Given the description of an element on the screen output the (x, y) to click on. 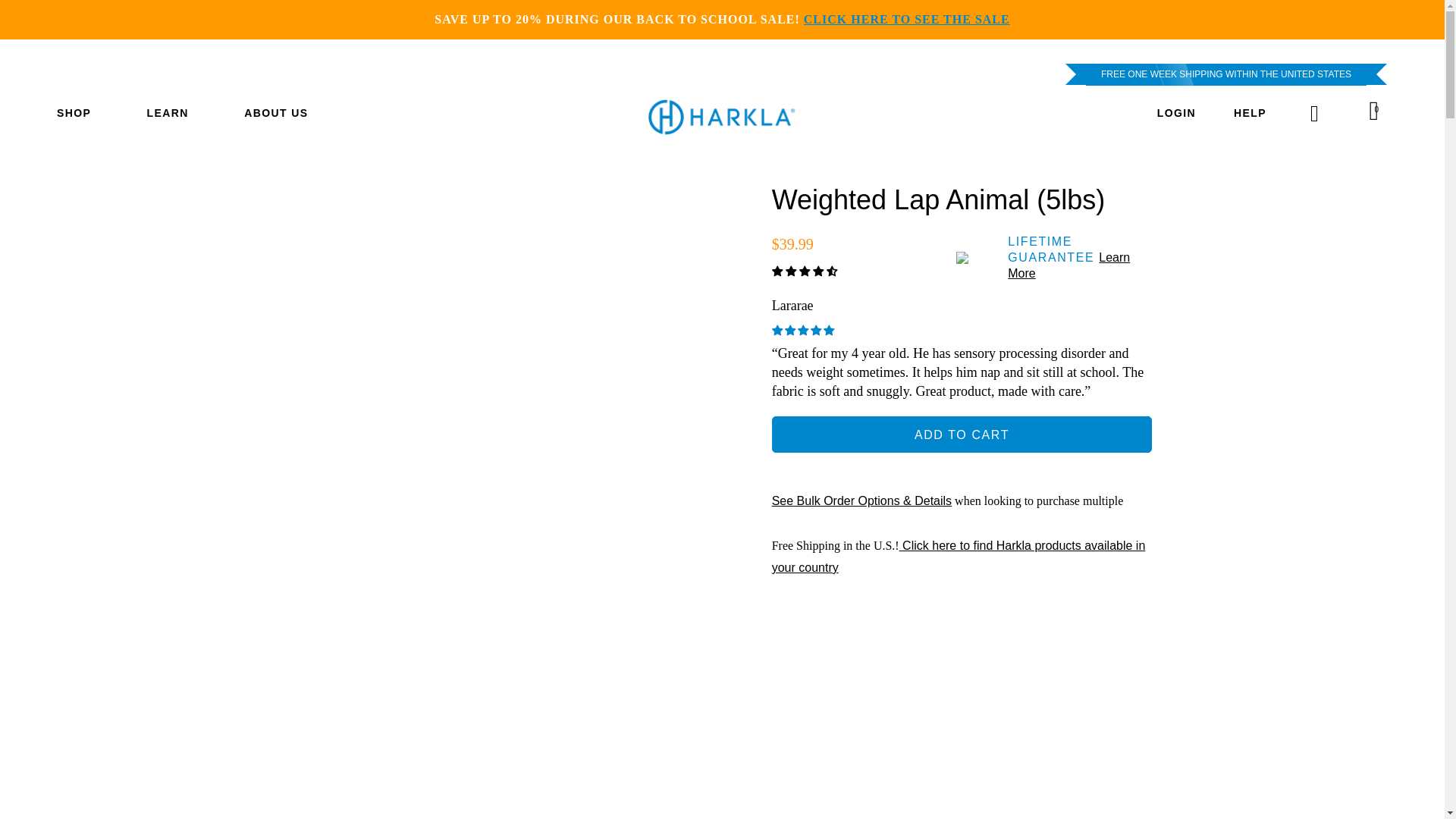
LOGIN (1176, 113)
SHOP (82, 113)
Harkla (722, 122)
ABOUT US (275, 113)
LEARN (177, 113)
HELP (1249, 113)
CLICK HERE TO SEE THE SALE (906, 18)
Search (1315, 113)
0 (1377, 112)
My Account  (1176, 113)
